Given the description of an element on the screen output the (x, y) to click on. 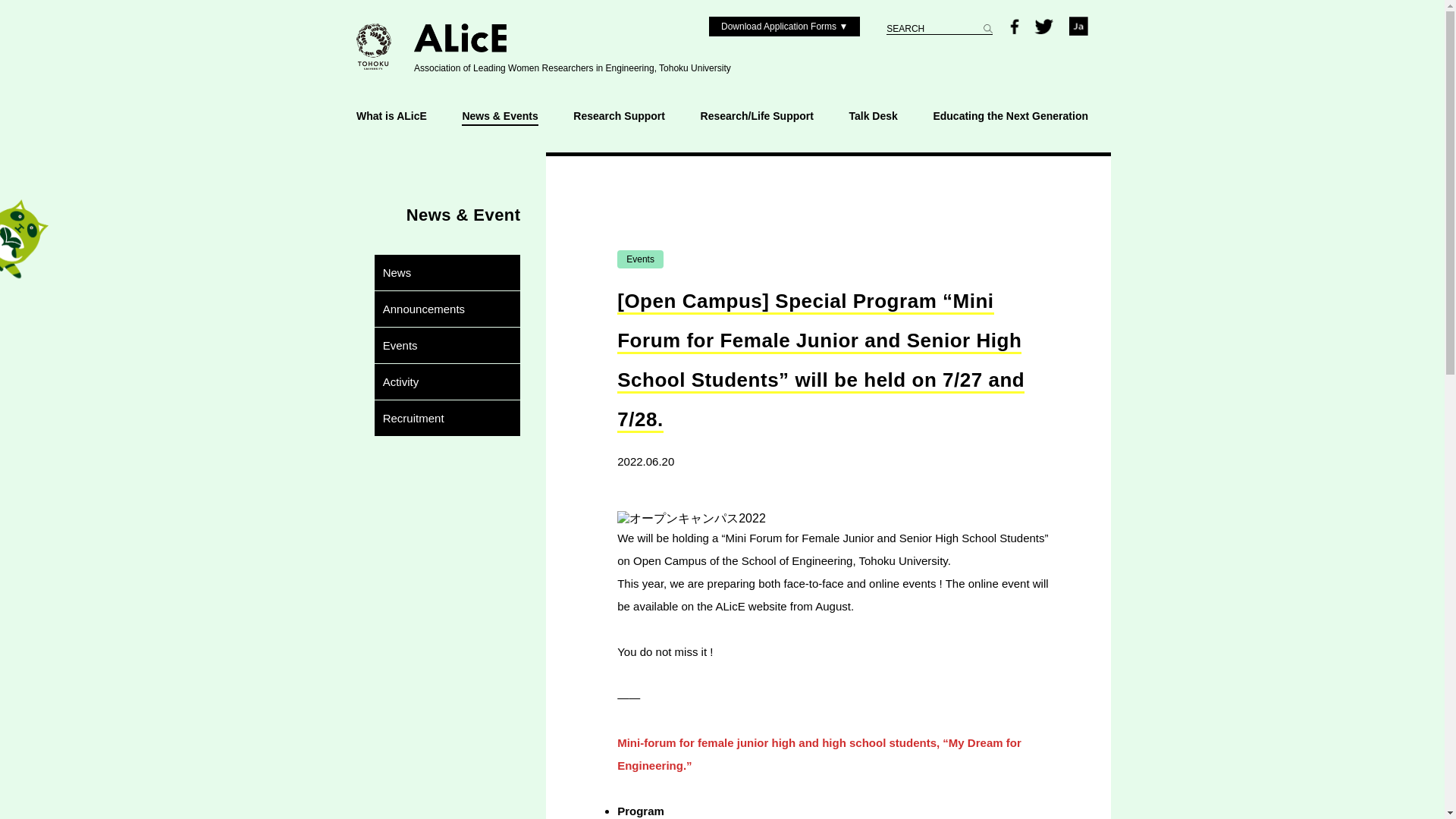
Educating the Next Generation (1010, 116)
Search (25, 9)
What is ALicE (391, 116)
Talk Desk (872, 116)
Research Support (619, 116)
